Given the description of an element on the screen output the (x, y) to click on. 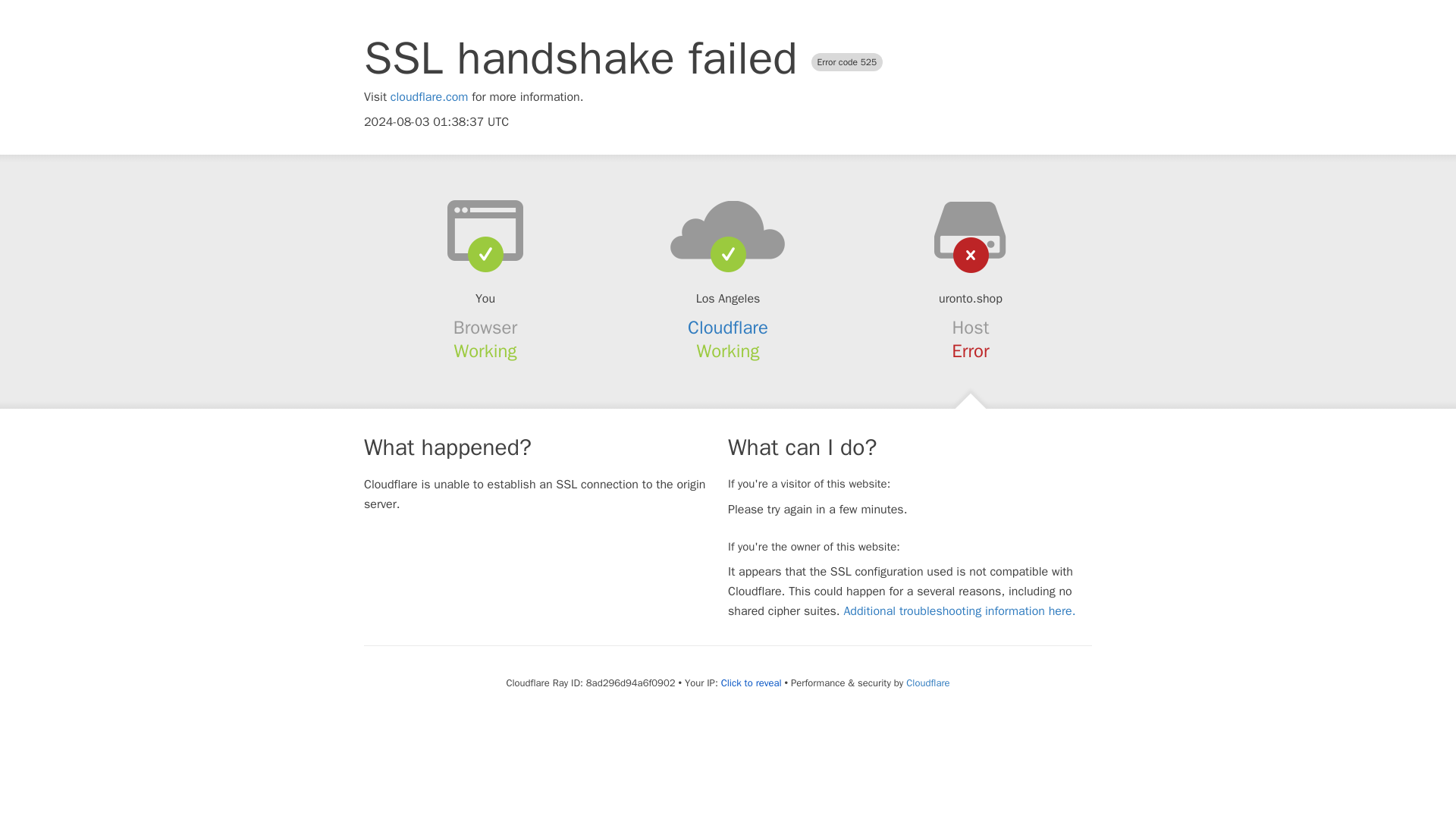
Click to reveal (750, 683)
Cloudflare (727, 327)
cloudflare.com (429, 96)
Cloudflare (927, 682)
Additional troubleshooting information here. (959, 611)
